Given the description of an element on the screen output the (x, y) to click on. 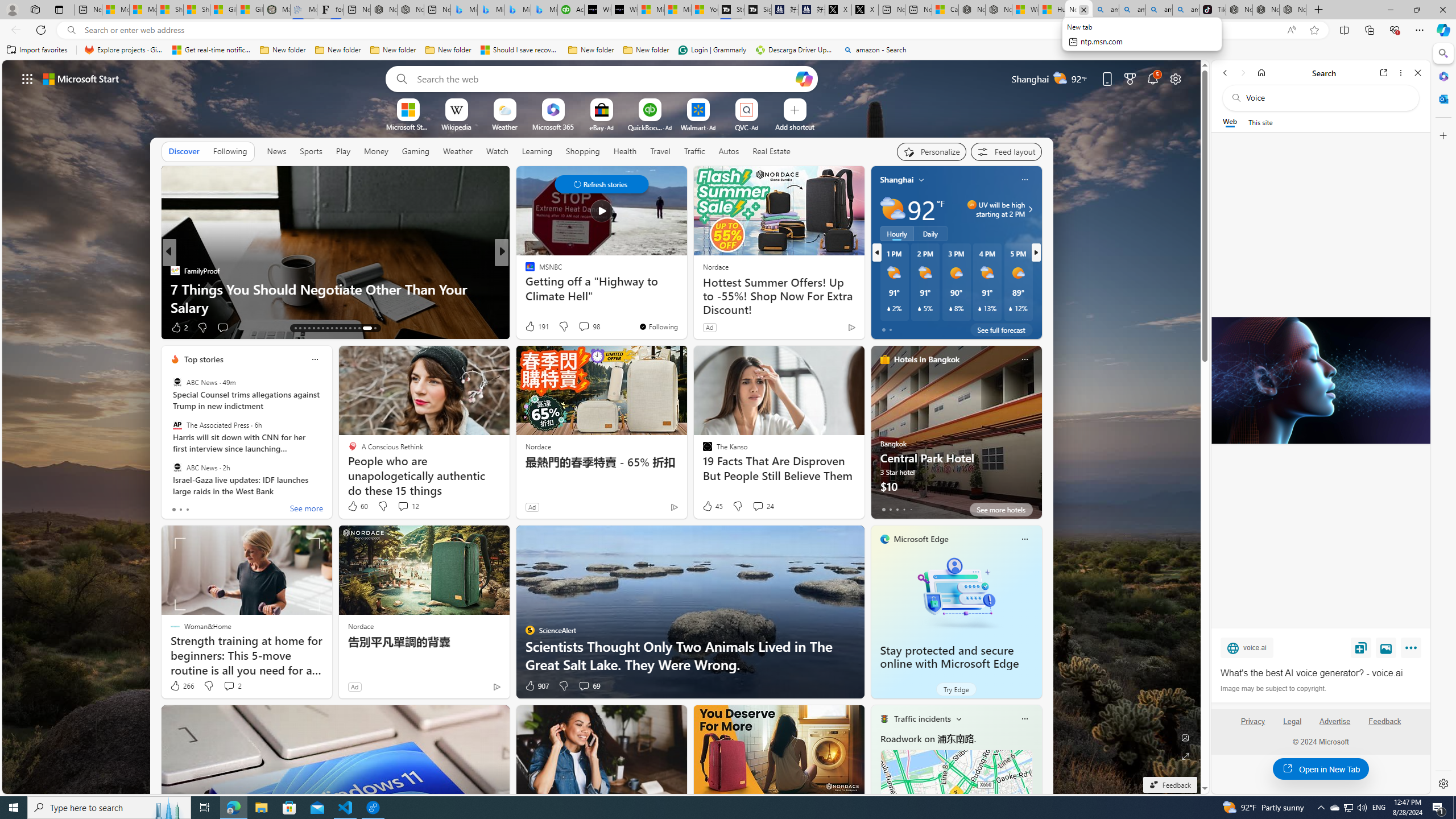
Customize (1442, 135)
AutomationID: tab-16 (309, 328)
Nordace - #1 Japanese Best-Seller - Siena Smart Backpack (411, 9)
Stay protected and secure online with Microsoft Edge (949, 657)
Top stories (203, 359)
Web scope (1230, 121)
View comments 69 Comment (588, 685)
Gilma and Hector both pose tropical trouble for Hawaii (249, 9)
More (1413, 649)
